Given the description of an element on the screen output the (x, y) to click on. 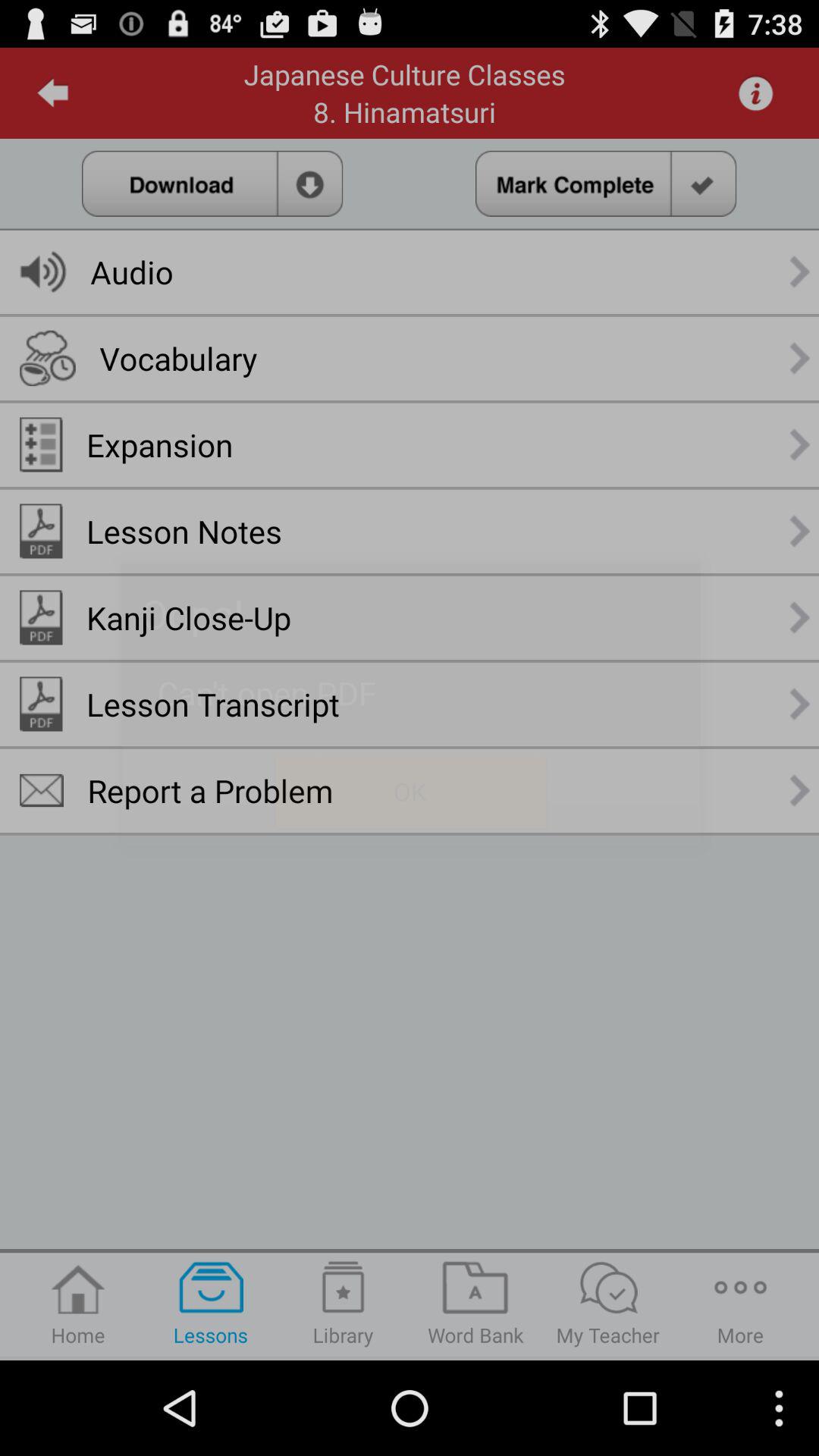
tap the lesson notes icon (184, 531)
